Given the description of an element on the screen output the (x, y) to click on. 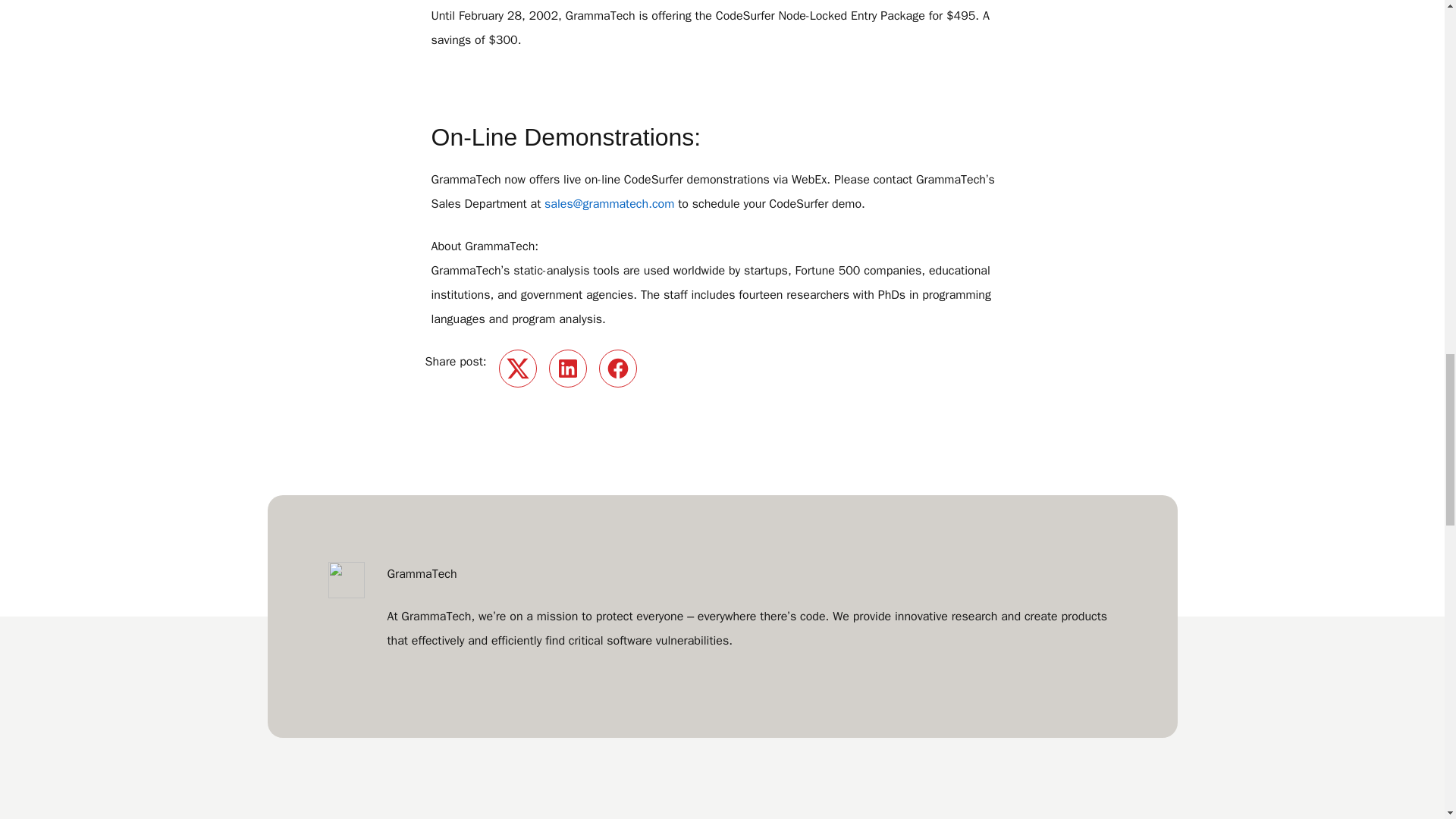
Twitter (518, 368)
LinkedIn (567, 368)
Facebook (617, 368)
